Given the description of an element on the screen output the (x, y) to click on. 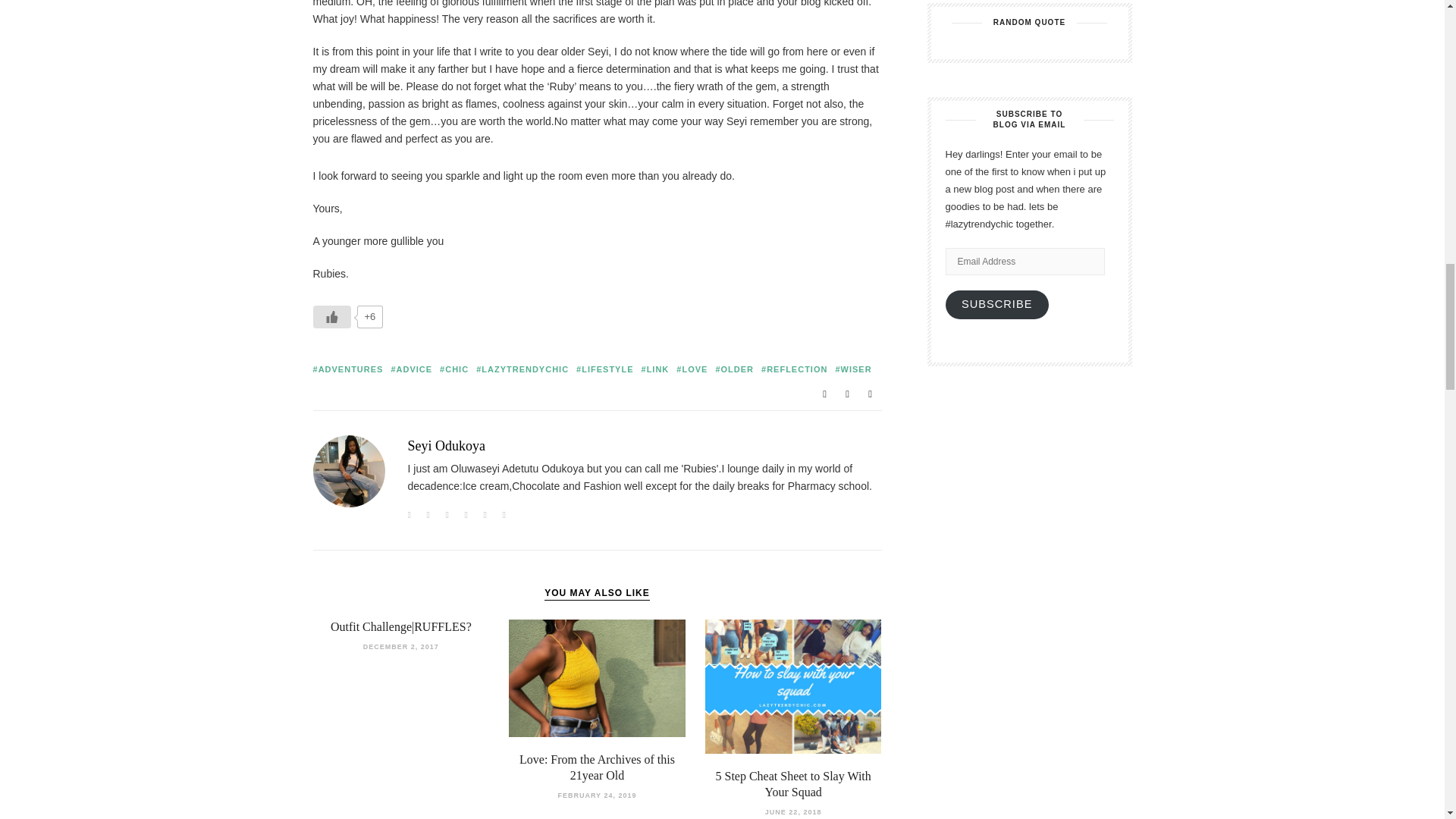
LIFESTYLE (604, 369)
WISER (852, 369)
CHIC (453, 369)
LAZYTRENDYCHIC (522, 369)
ADVICE (411, 369)
ADVENTURES (347, 369)
Posts by Seyi Odukoya (446, 445)
OLDER (734, 369)
REFLECTION (794, 369)
LINK (655, 369)
LOVE (692, 369)
